Given the description of an element on the screen output the (x, y) to click on. 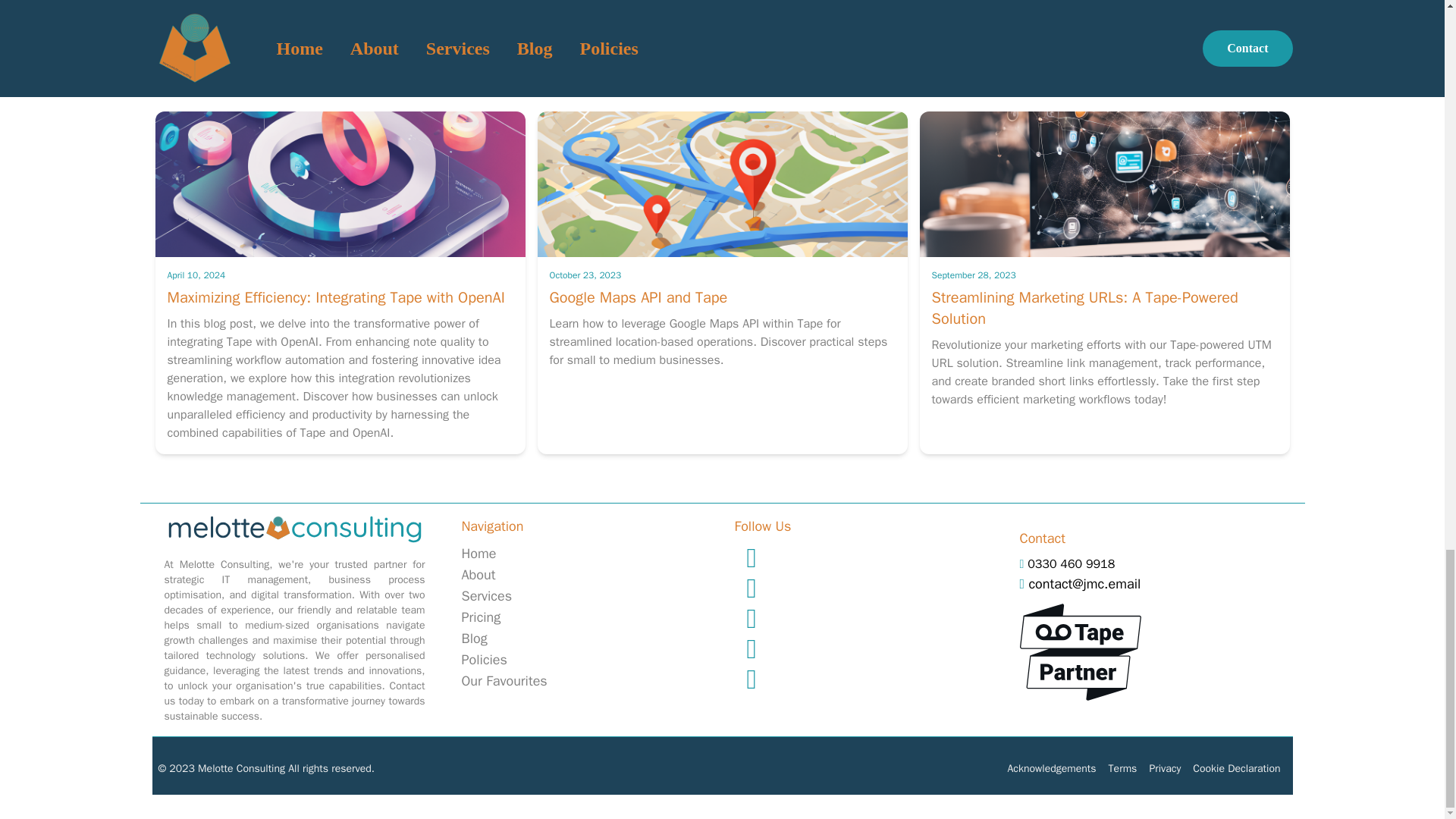
Pricing (480, 617)
Privacy (1164, 768)
Maximizing Efficiency: Integrating Tape with OpenAI (335, 297)
Acknowledgements (1051, 768)
Blog (473, 638)
About (478, 574)
Our Favourites (504, 680)
0330 460 9918 (1067, 563)
Services (486, 596)
Google Maps API and Tape (637, 297)
Home (478, 553)
Terms (1122, 768)
Cookie Declaration (1235, 768)
Streamlining Marketing URLs: A Tape-Powered Solution (1084, 308)
Policies (483, 659)
